Given the description of an element on the screen output the (x, y) to click on. 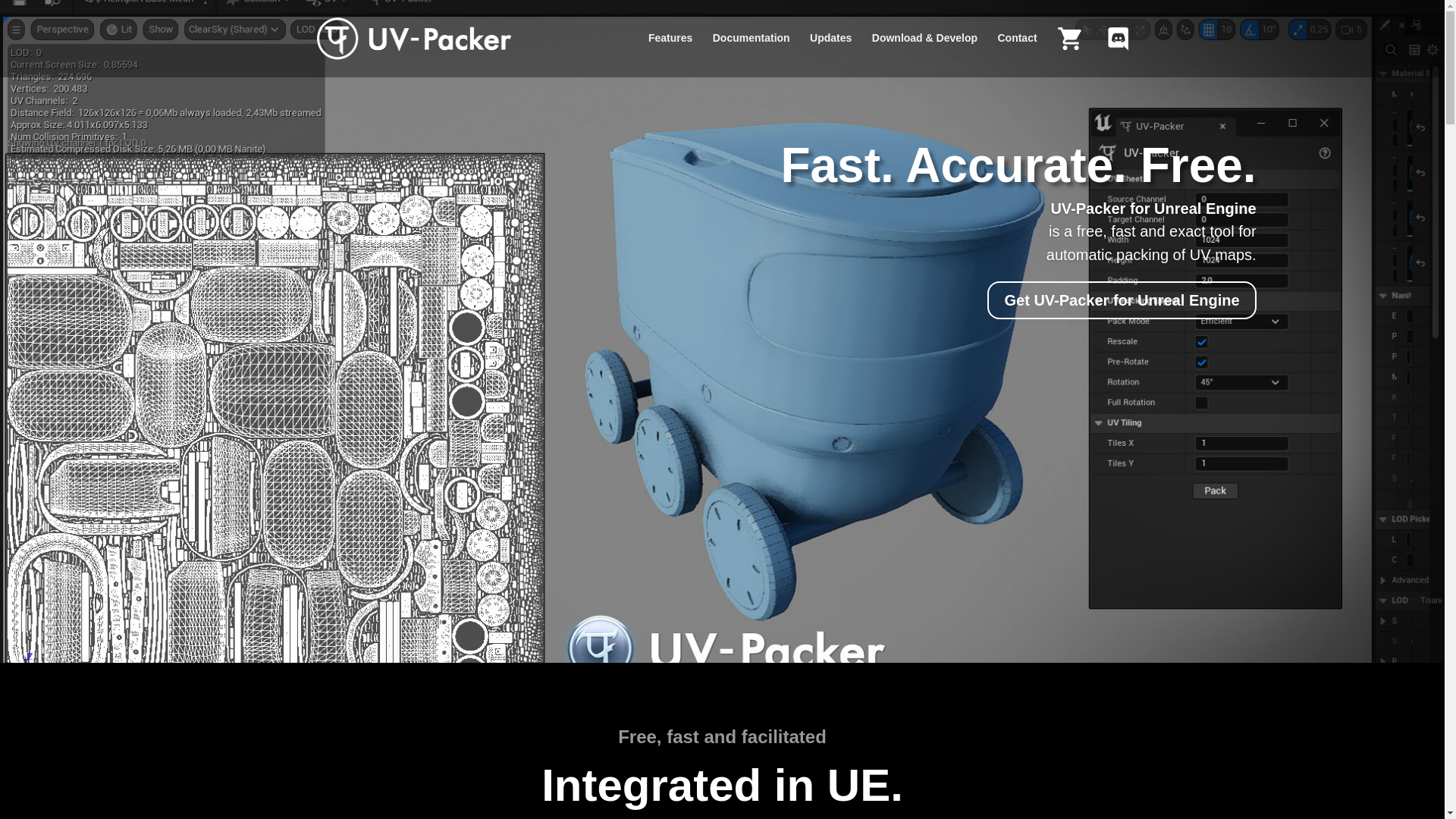
Updates (830, 49)
Fast. Accurate. Free. (1017, 165)
Features (670, 49)
Documentation (751, 49)
Contact (1016, 49)
Get UV-Packer for Unreal Engine (1121, 300)
